Given the description of an element on the screen output the (x, y) to click on. 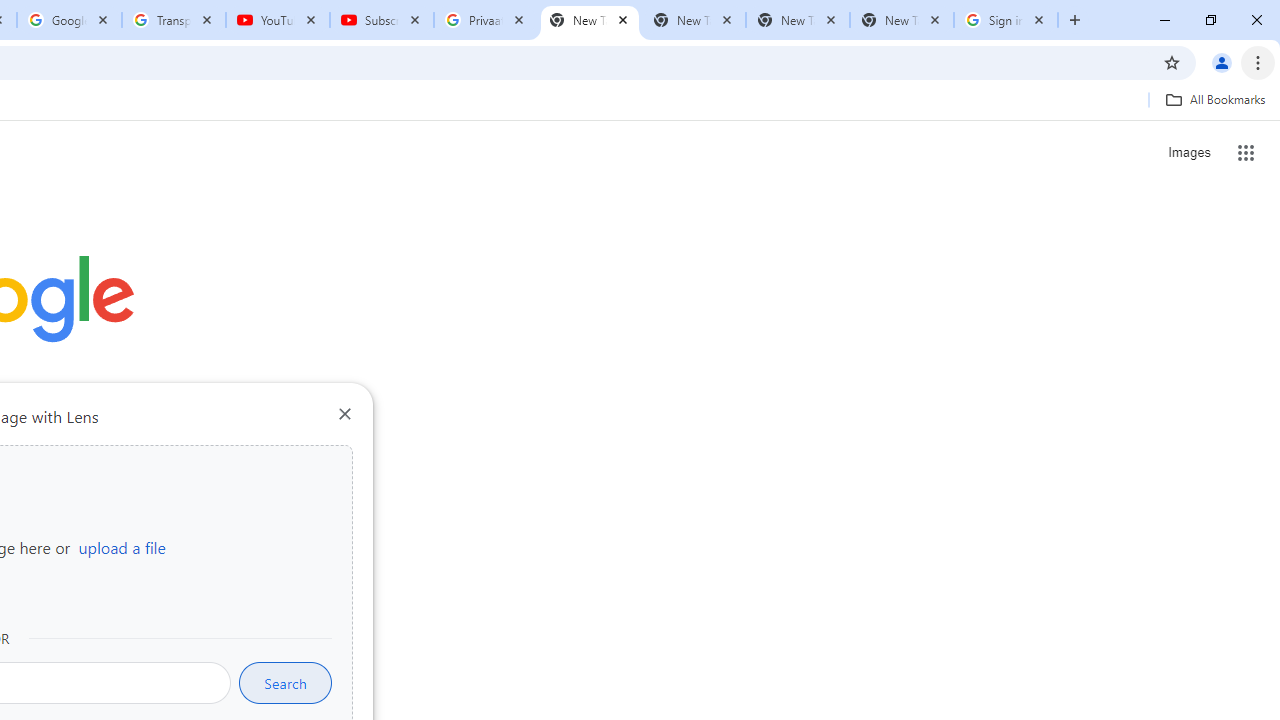
YouTube (278, 20)
Google Account (68, 20)
New Tab (901, 20)
